Given the description of an element on the screen output the (x, y) to click on. 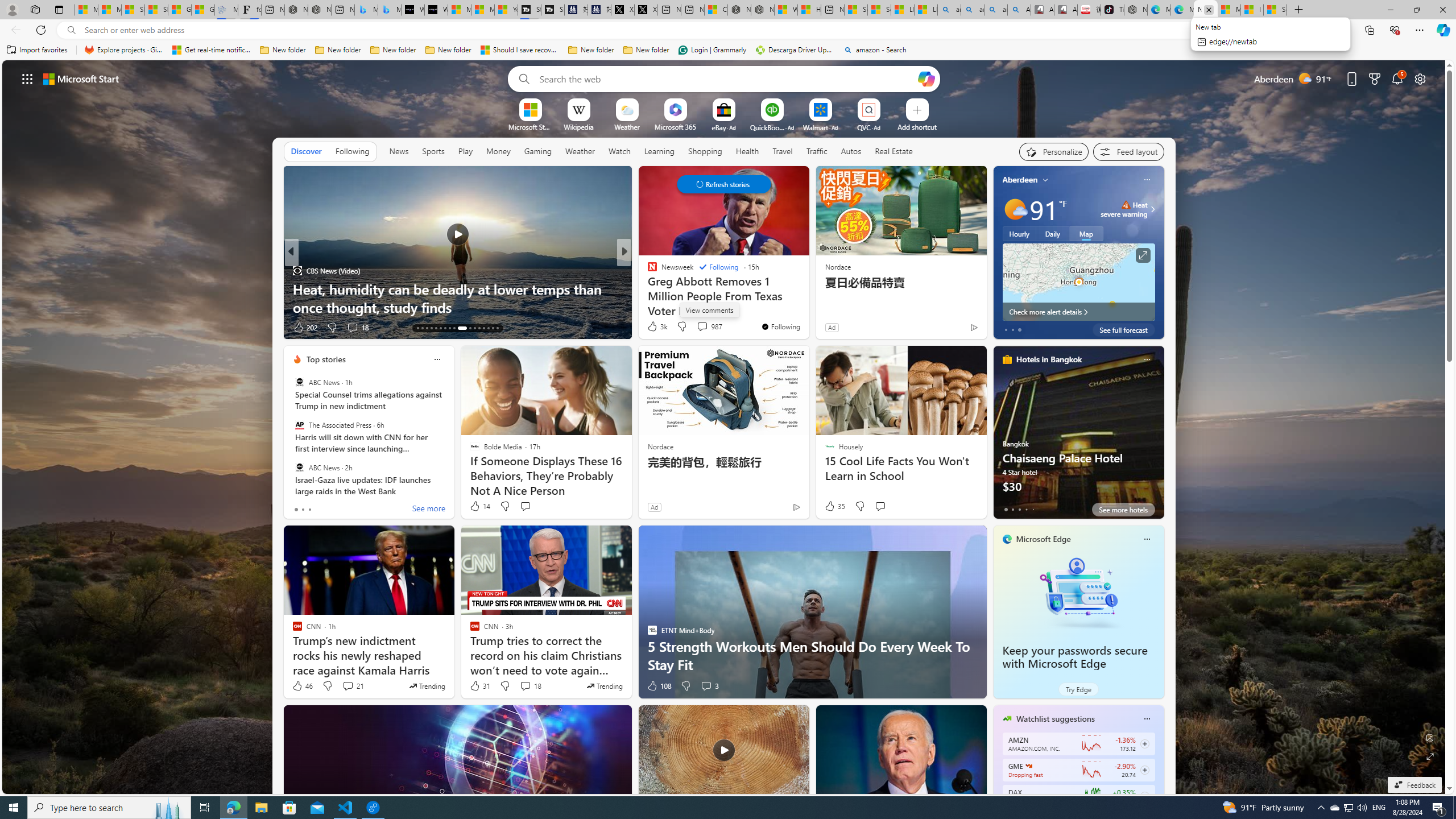
View comments 21 Comment (347, 685)
Hotels in Bangkok (1048, 359)
Notifications (1397, 78)
Watchlist suggestions (1055, 718)
Keep your passwords secure with Microsoft Edge (1077, 592)
Page settings (1420, 78)
Nordace.com (663, 288)
Gaming (537, 151)
Top stories (325, 359)
241 Like (654, 327)
Edit Background (1430, 737)
Travel (782, 151)
Should I save recovered Word documents? - Microsoft Support (519, 49)
